Given the description of an element on the screen output the (x, y) to click on. 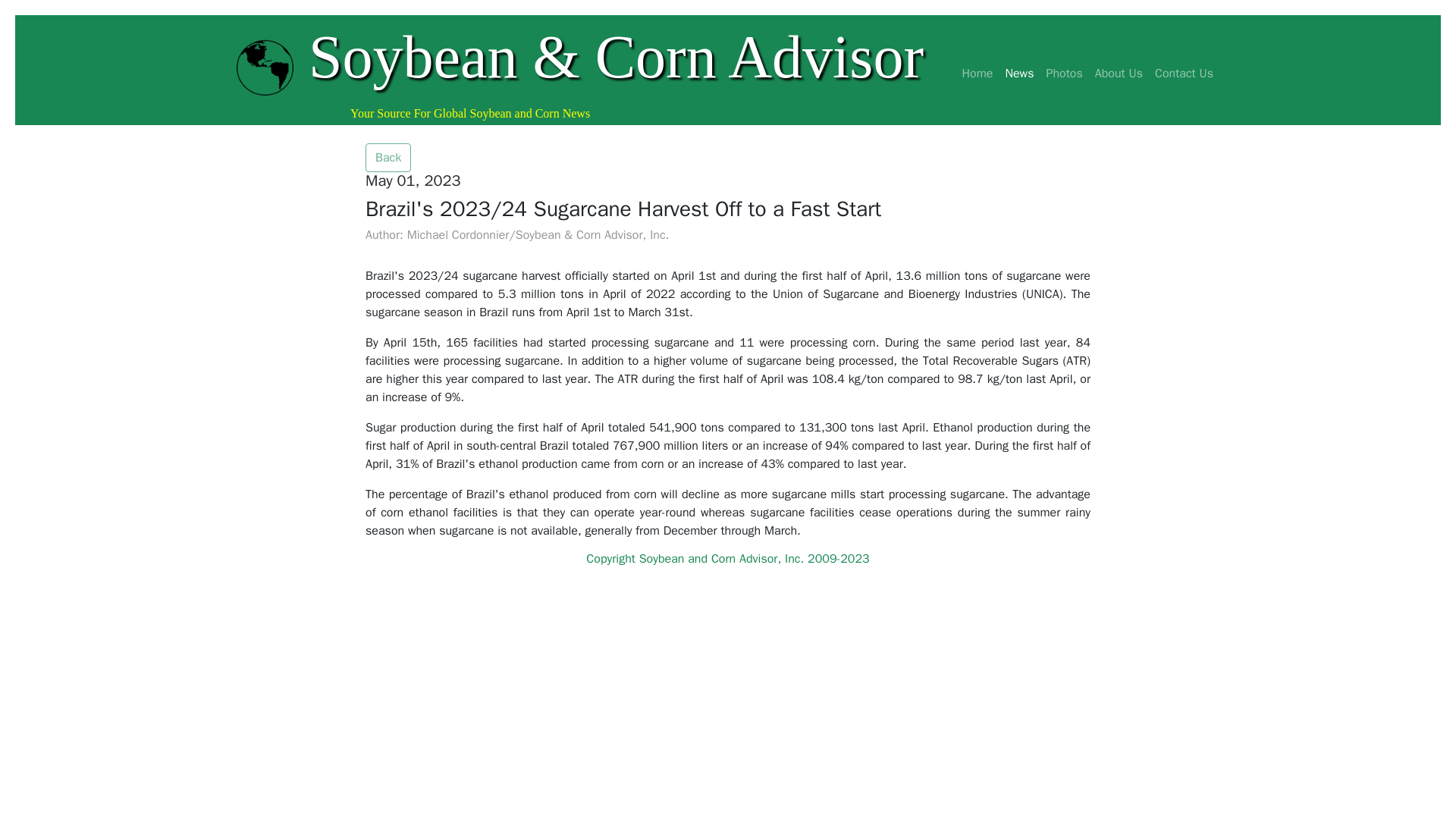
Contact Us (1184, 73)
Back (387, 157)
Home (977, 73)
About Us (1118, 73)
News (1018, 73)
Photos (1063, 73)
